Given the description of an element on the screen output the (x, y) to click on. 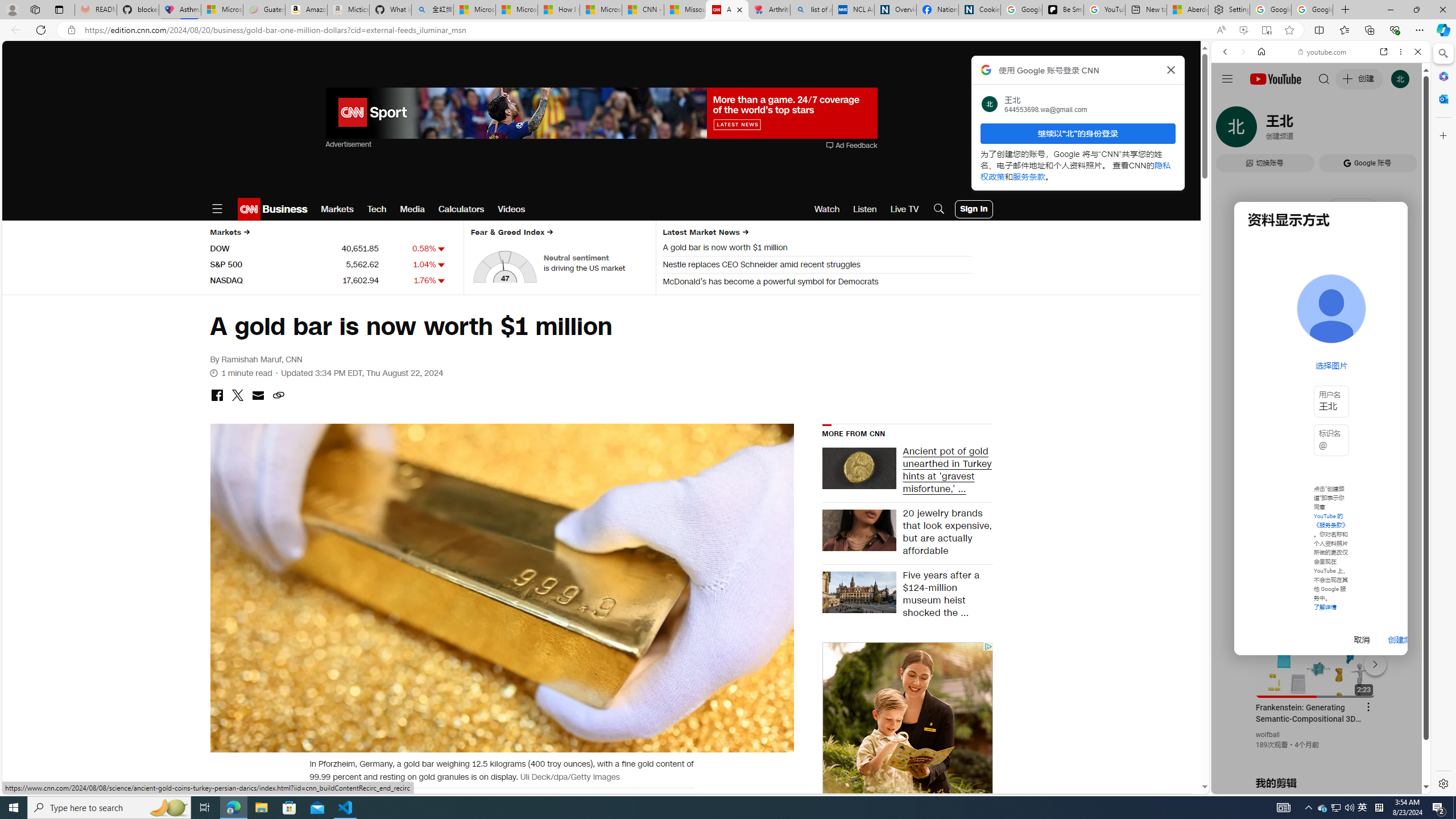
User Account Log In Button (973, 208)
Nestle replaces CEO Schneider amid recent struggles (816, 266)
Class: icon-ui-link (277, 395)
A gold bar is now worth $1 million (816, 249)
Listen (864, 208)
